Given the description of an element on the screen output the (x, y) to click on. 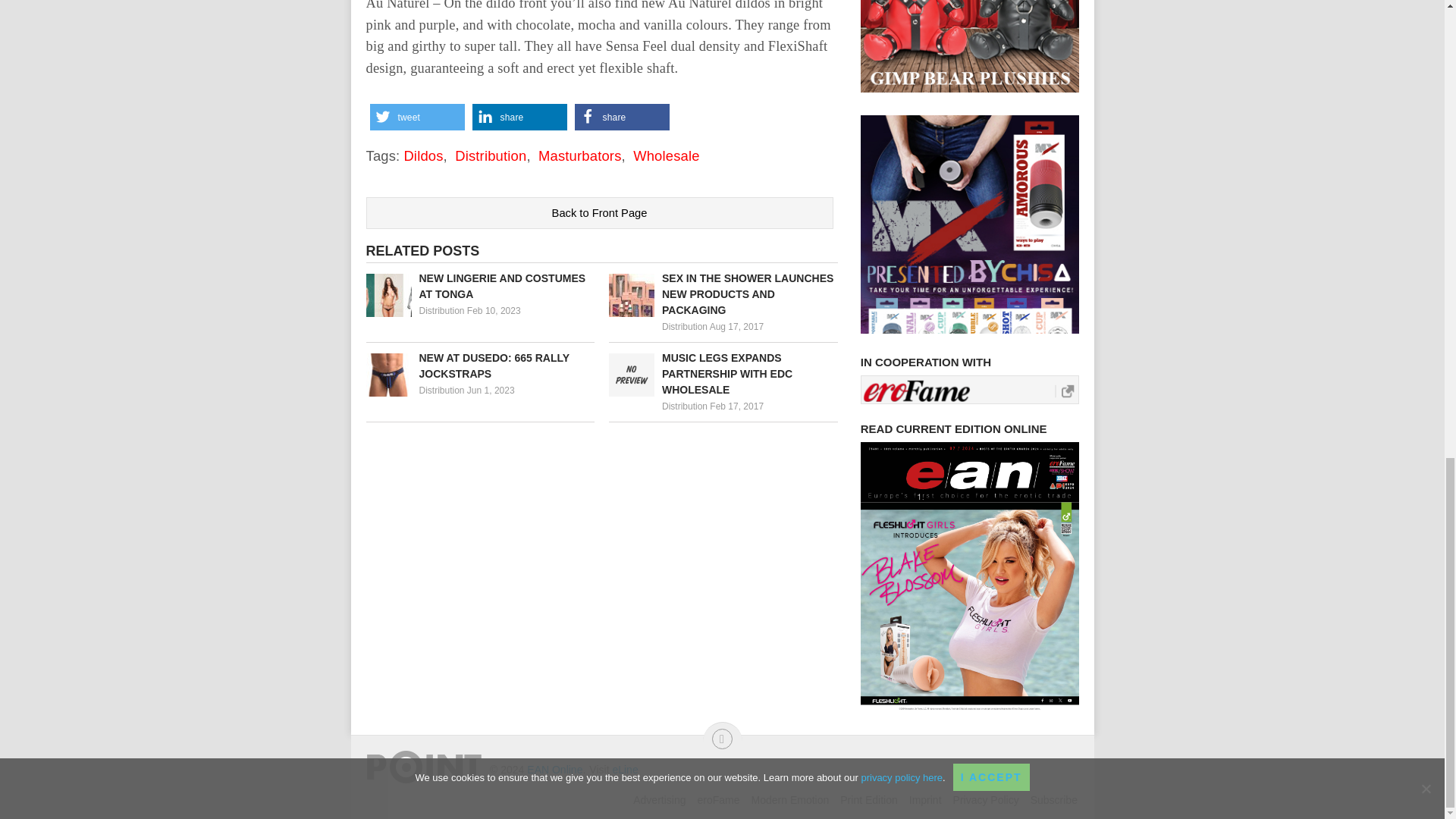
SEX IN THE SHOWER LAUNCHES NEW PRODUCTS AND PACKAGING (723, 294)
share  (622, 117)
Distribution (684, 326)
MUSIC LEGS EXPANDS PARTNERSHIP WITH EDC WHOLESALE (723, 374)
share  (518, 117)
New at DUSEDO: 665 Rally Jockstraps (479, 366)
Distribution (684, 406)
Share on Facebook (622, 117)
Back to Front Page (599, 213)
New lingerie and costumes at Tonga (479, 286)
Distribution (441, 310)
Distribution (441, 389)
Wholesale (666, 155)
Distribution (489, 155)
Dildos (422, 155)
